Given the description of an element on the screen output the (x, y) to click on. 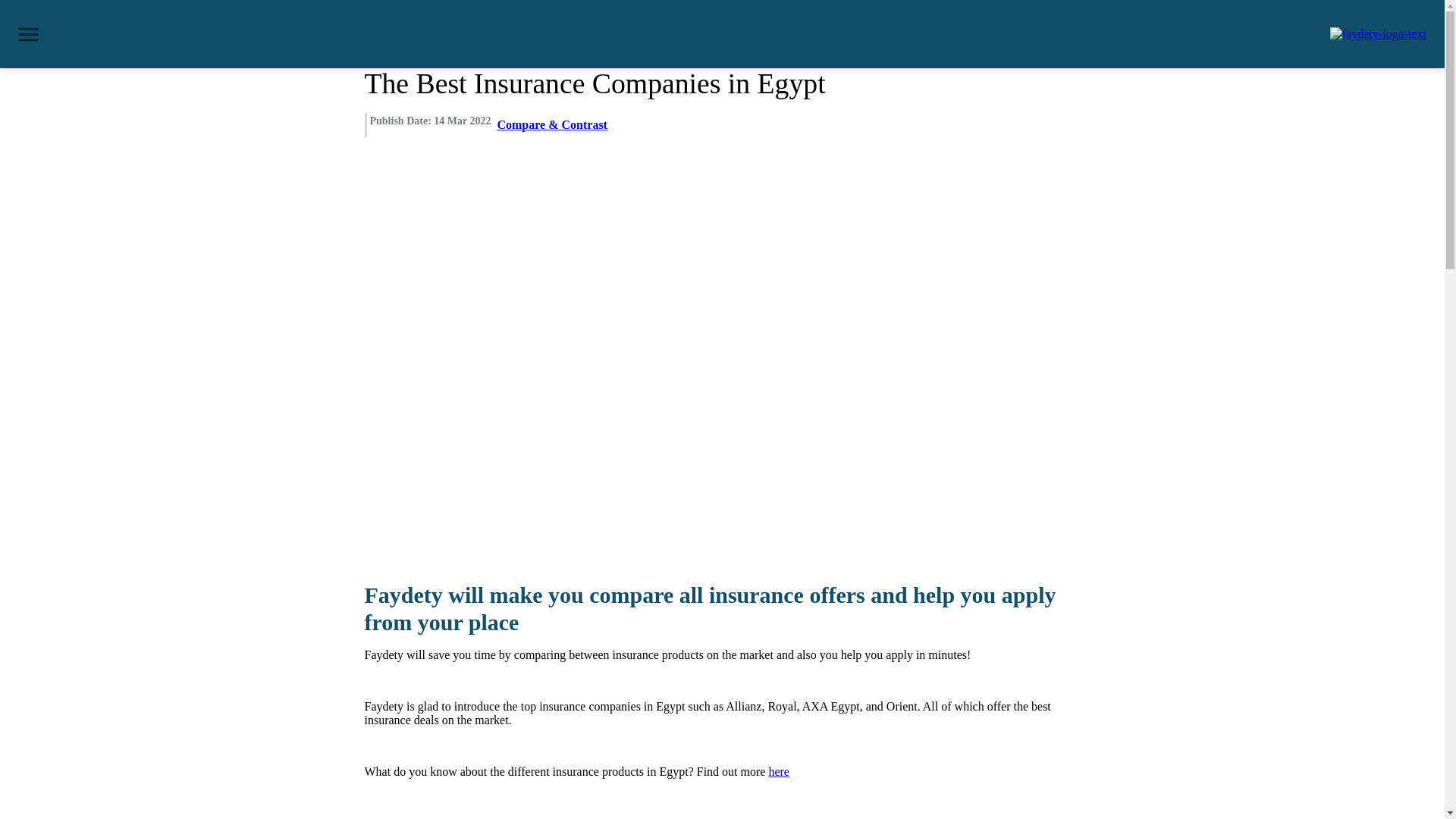
here (778, 771)
